Given the description of an element on the screen output the (x, y) to click on. 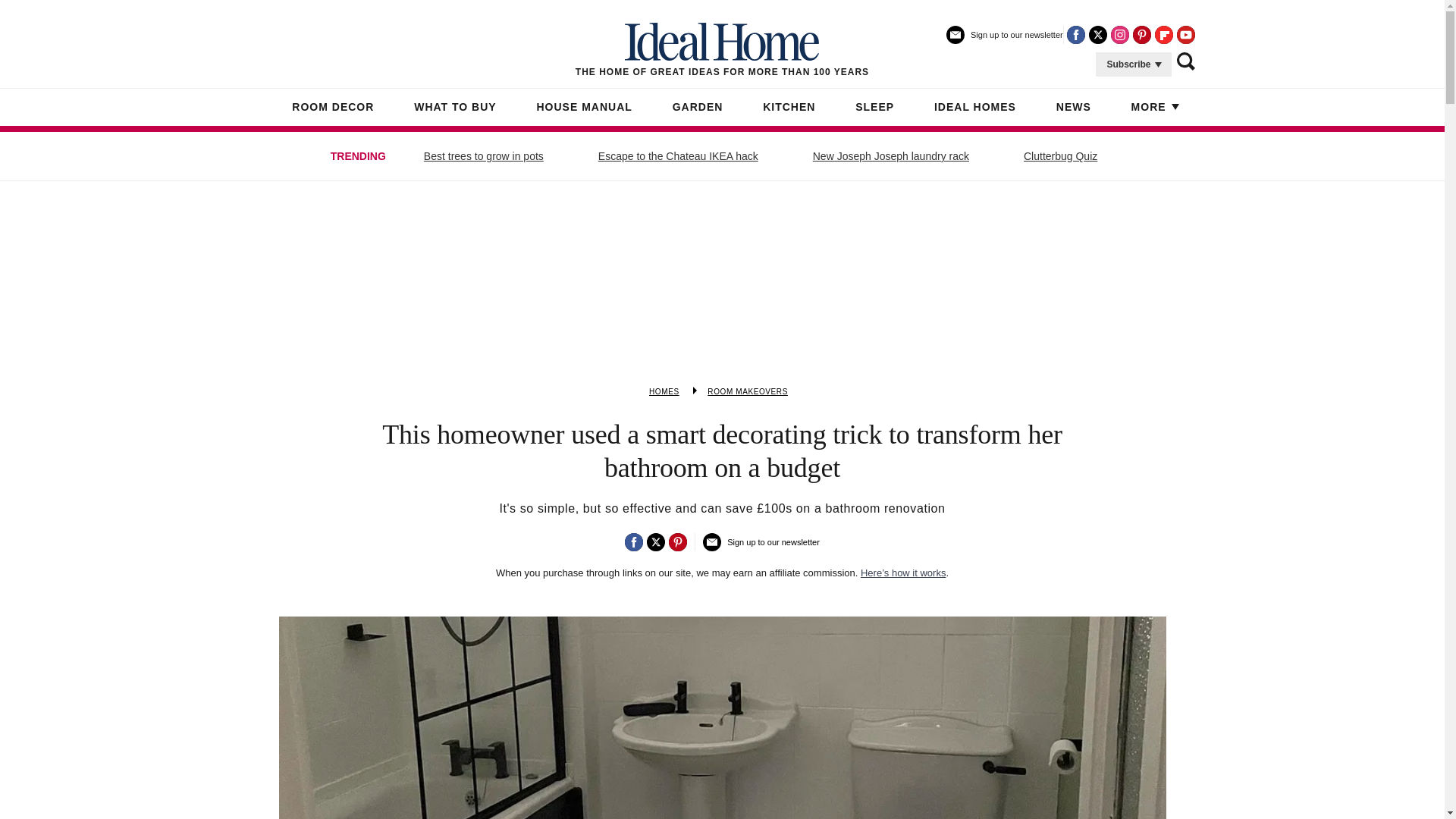
HOUSE MANUAL (583, 108)
KITCHEN (788, 108)
Clutterbug Quiz (1059, 155)
THE HOME OF GREAT IDEAS FOR MORE THAN 100 YEARS (722, 49)
Sign up to our newsletter (1004, 40)
Escape to the Chateau IKEA hack (677, 155)
ROOM MAKEOVERS (747, 391)
HOMES (664, 391)
NEWS (1073, 108)
WHAT TO BUY (454, 108)
